Given the description of an element on the screen output the (x, y) to click on. 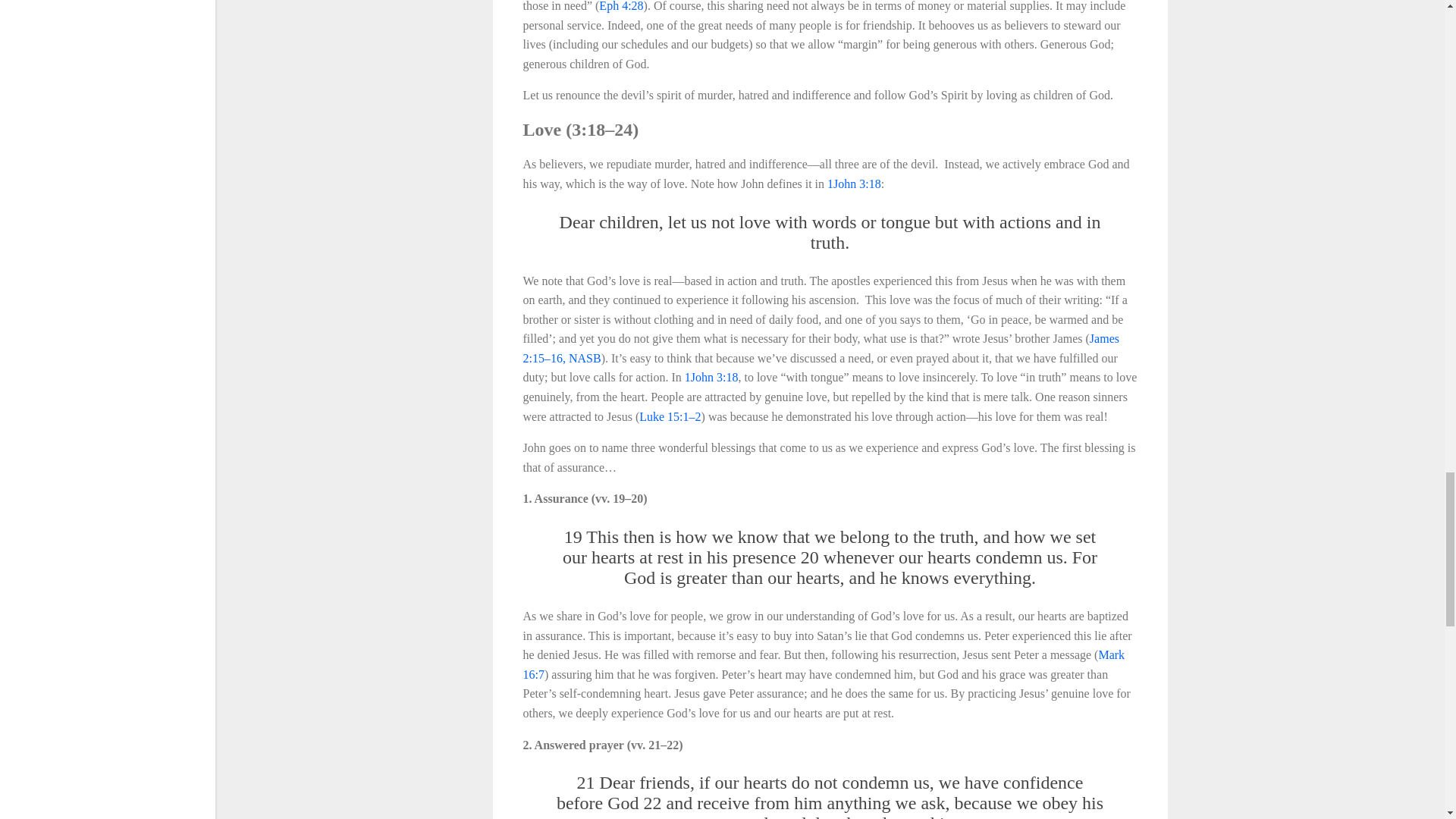
1John 3:18 (853, 183)
1John 3:18 (711, 377)
Mark 16:7 (823, 664)
Eph 4:28 (620, 6)
